Given the description of an element on the screen output the (x, y) to click on. 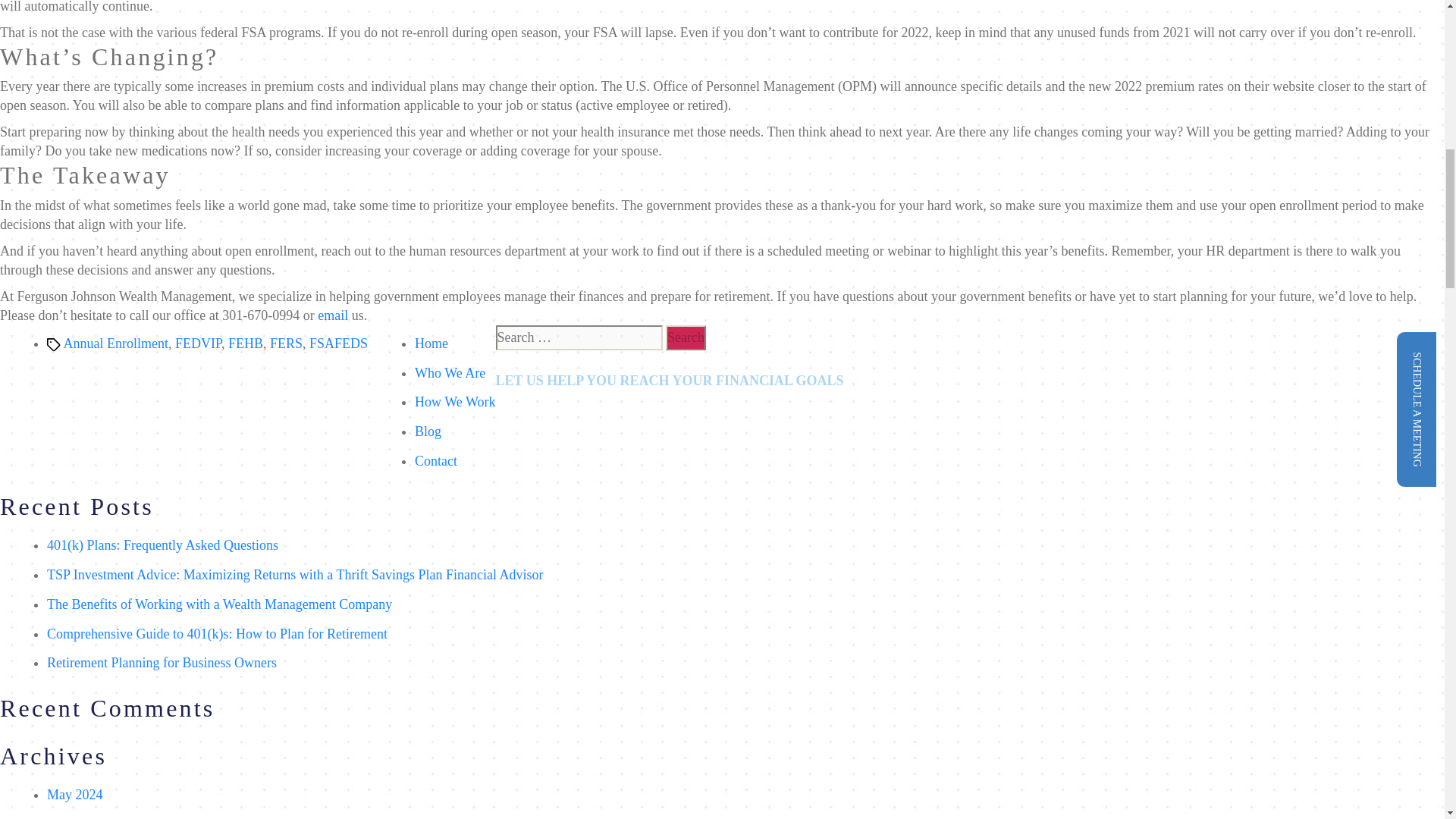
Search (685, 337)
Search (685, 337)
